Given the description of an element on the screen output the (x, y) to click on. 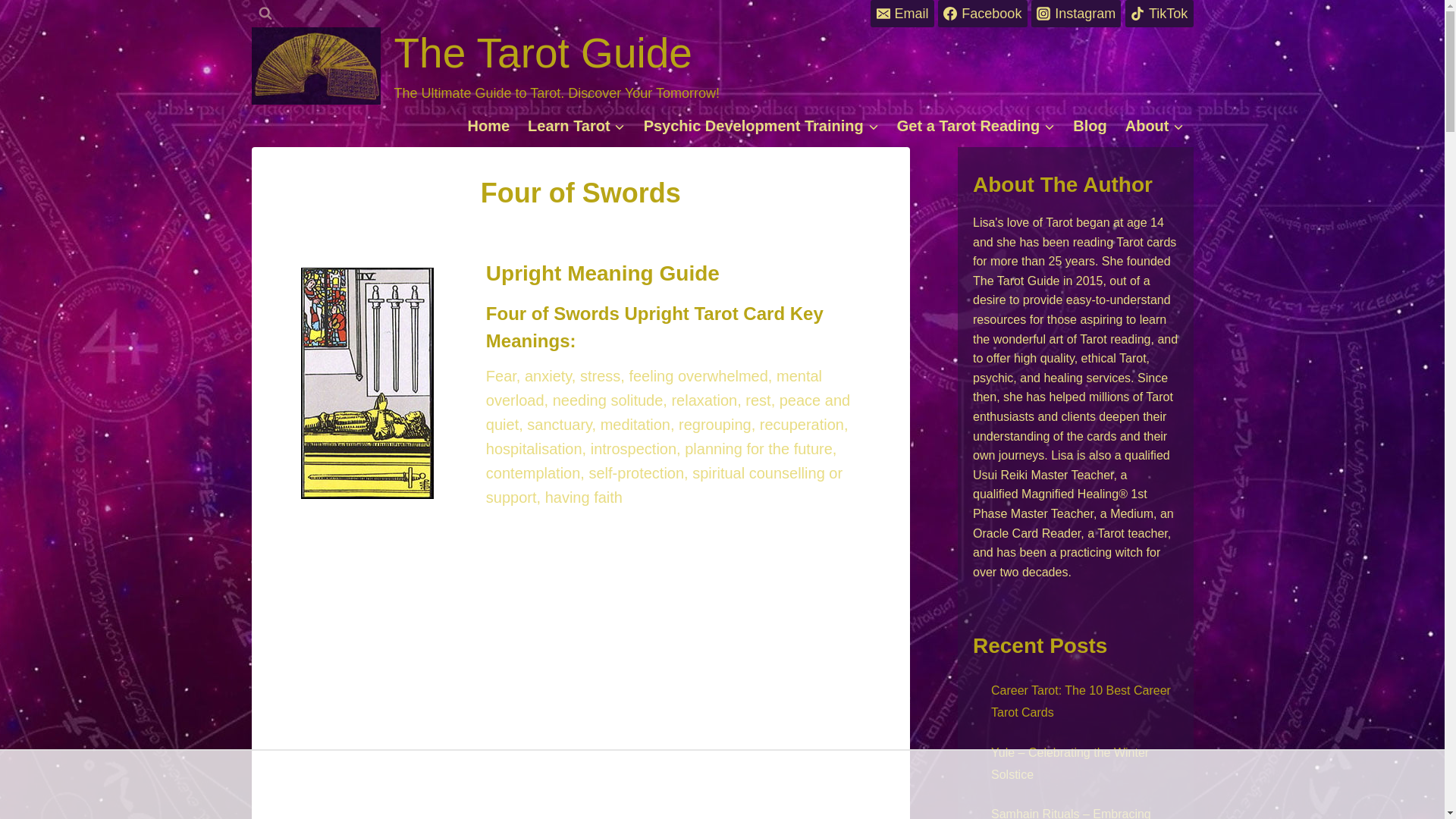
Instagram (1075, 13)
Psychic Development Training (761, 125)
Get a Tarot Reading (976, 125)
Learn Tarot (576, 125)
About (1154, 125)
Email (901, 13)
Home (488, 125)
TikTok (1159, 13)
Facebook (981, 13)
